Given the description of an element on the screen output the (x, y) to click on. 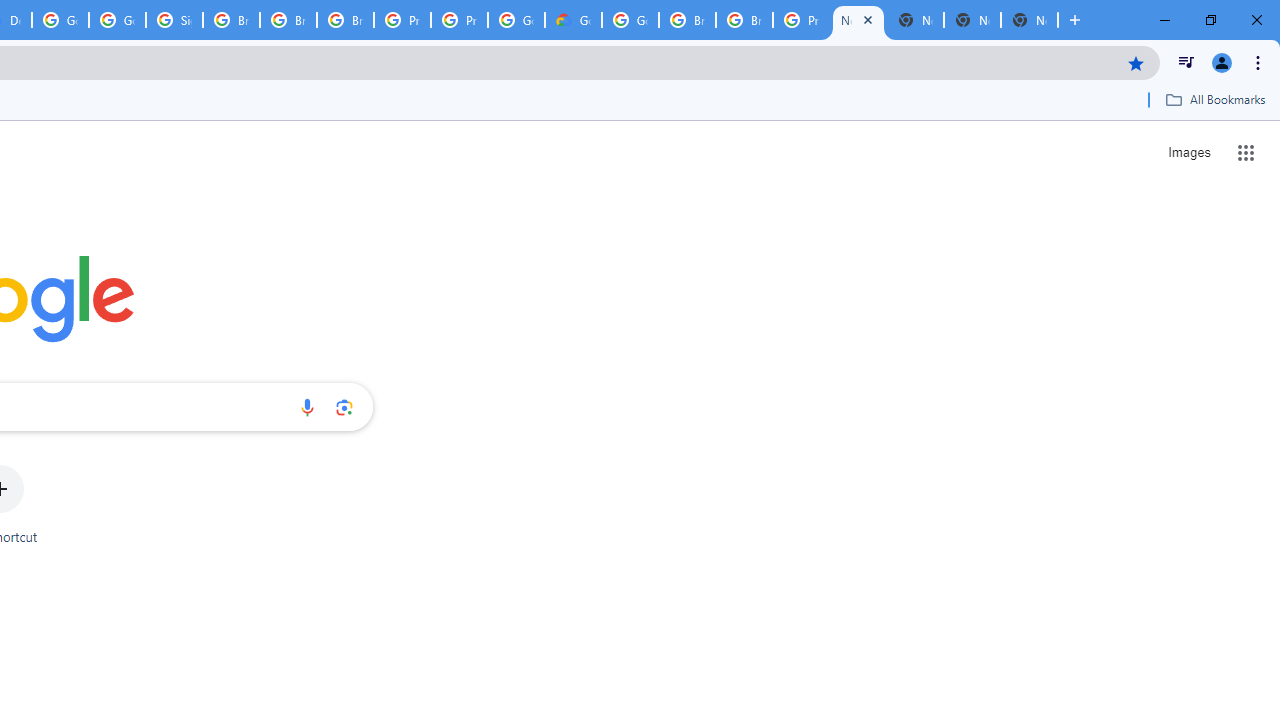
New Tab (1029, 20)
Search by voice (307, 407)
Google Cloud Platform (60, 20)
Google Cloud Estimate Summary (573, 20)
Sign in - Google Accounts (174, 20)
Google Cloud Platform (516, 20)
Search for Images  (1188, 152)
Google Cloud Platform (630, 20)
